Given the description of an element on the screen output the (x, y) to click on. 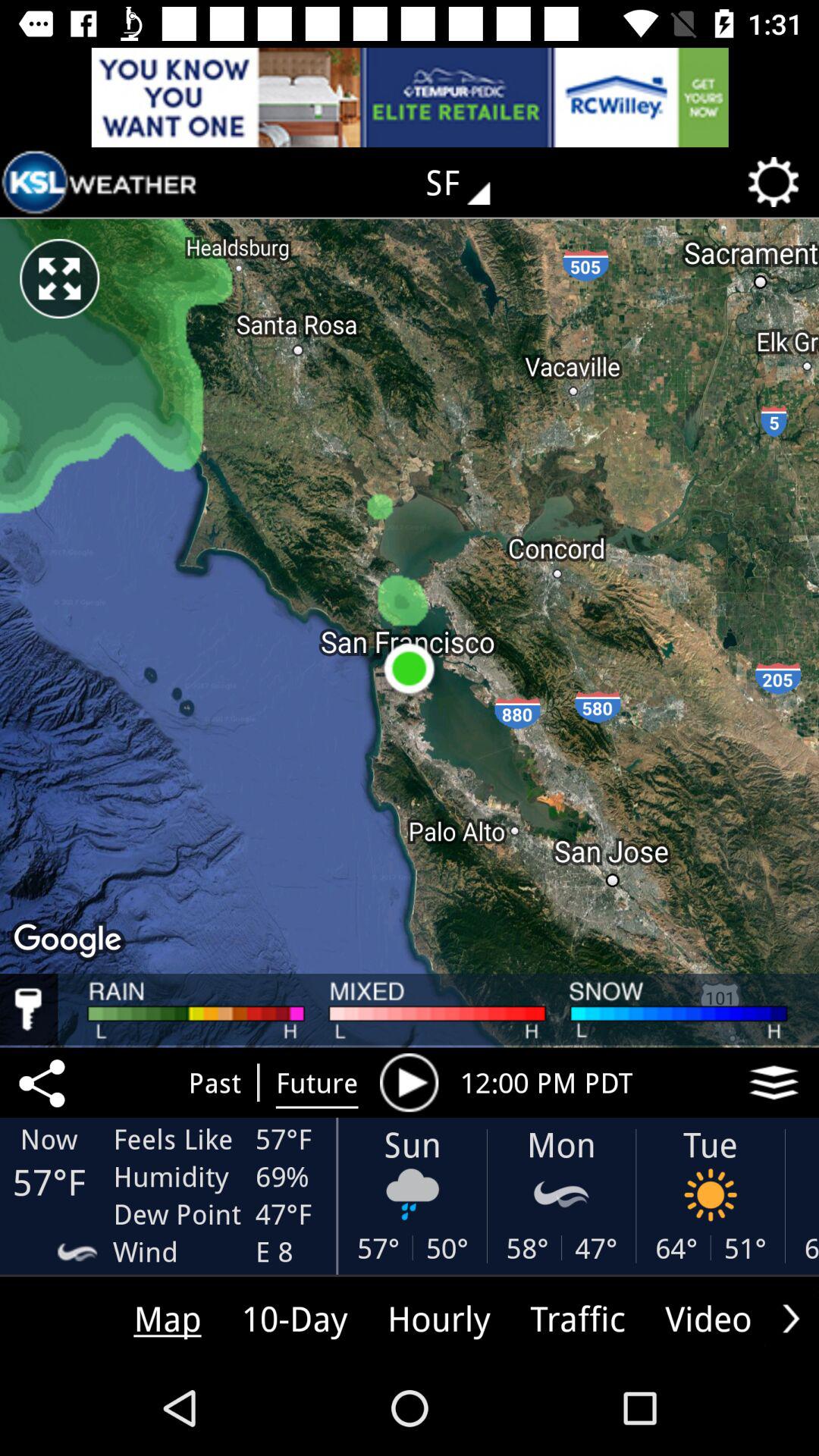
select google at the left side of the image (69, 941)
click on the icon below son (412, 1195)
